Given the description of an element on the screen output the (x, y) to click on. 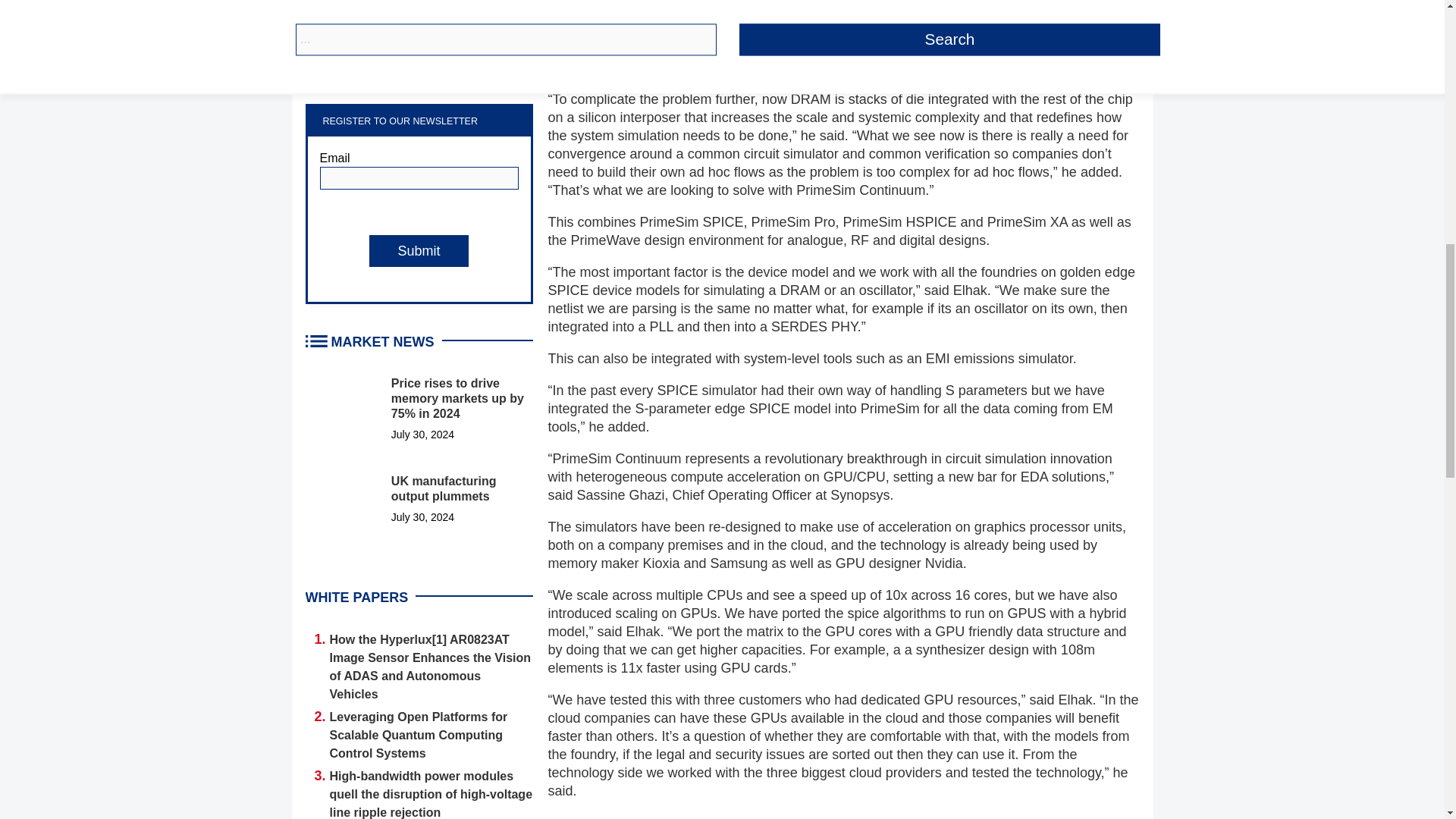
Submit (418, 250)
